Given the description of an element on the screen output the (x, y) to click on. 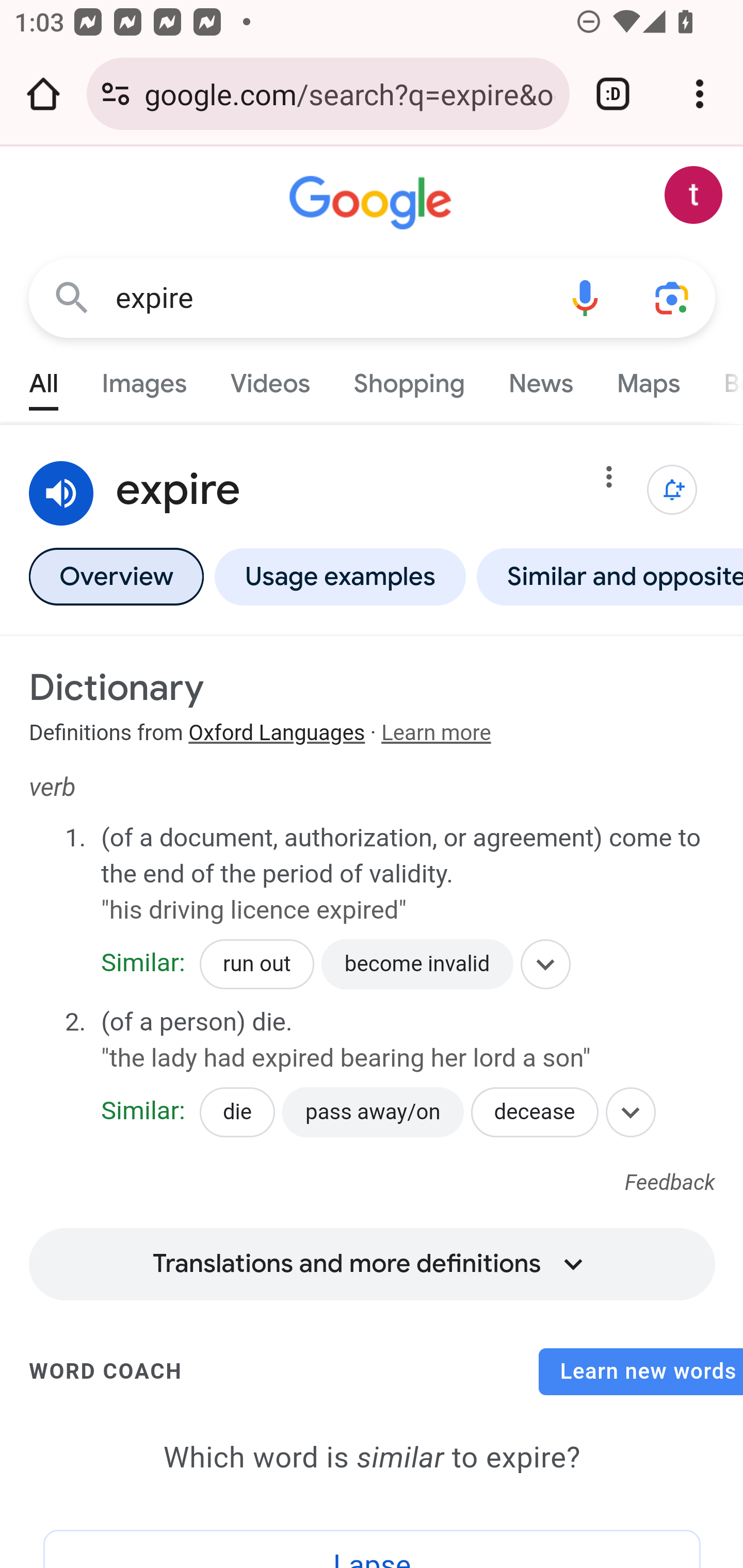
Open the home page (43, 93)
Connection is secure (115, 93)
Switch or close tabs (612, 93)
Customize and control Google Chrome (699, 93)
Google (372, 203)
Google Search (71, 296)
Search using your camera or photos (672, 296)
expire (328, 297)
Images (144, 378)
Videos (270, 378)
Shopping (408, 378)
News (540, 378)
Maps (647, 378)
Get notifications about Word of the day (672, 489)
More options (609, 481)
 Listen  (61, 493)
Overview (116, 575)
Usage examples (340, 575)
Similar and opposite words (606, 575)
Oxford Languages (276, 733)
Learn more (435, 733)
run out (256, 964)
cease (153, 1103)
die (237, 1112)
decease (534, 1112)
Feedback (669, 1182)
Translations and more definitions (371, 1256)
